Given the description of an element on the screen output the (x, y) to click on. 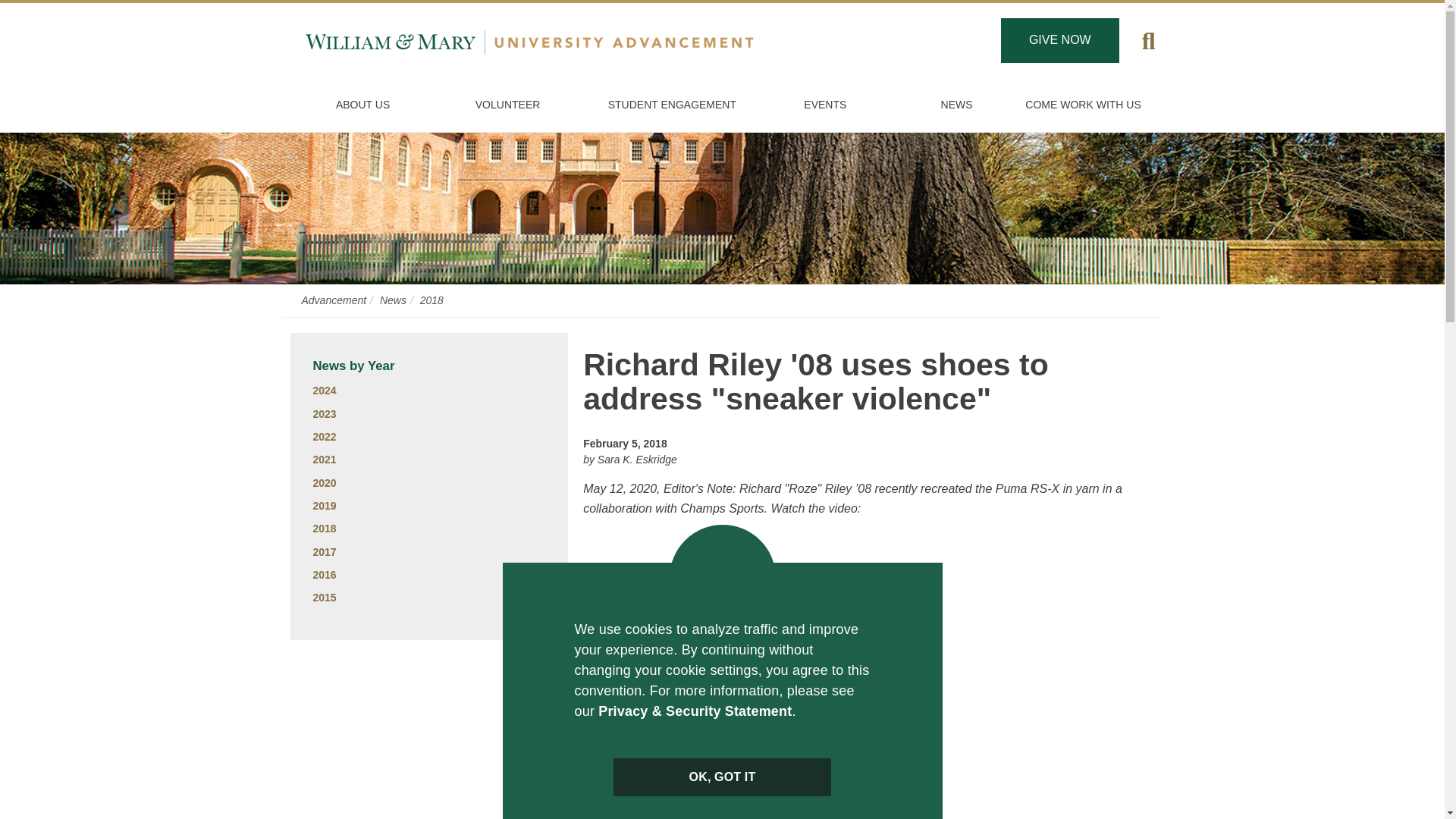
News (393, 300)
2018 (432, 300)
Events (824, 104)
About Us (362, 104)
STUDENT ENGAGEMENT (671, 104)
VOLUNTEER (507, 104)
COME WORK WITH US (1083, 104)
Volunteer (507, 104)
NEWS (956, 104)
GIVE NOW (1060, 40)
